Given the description of an element on the screen output the (x, y) to click on. 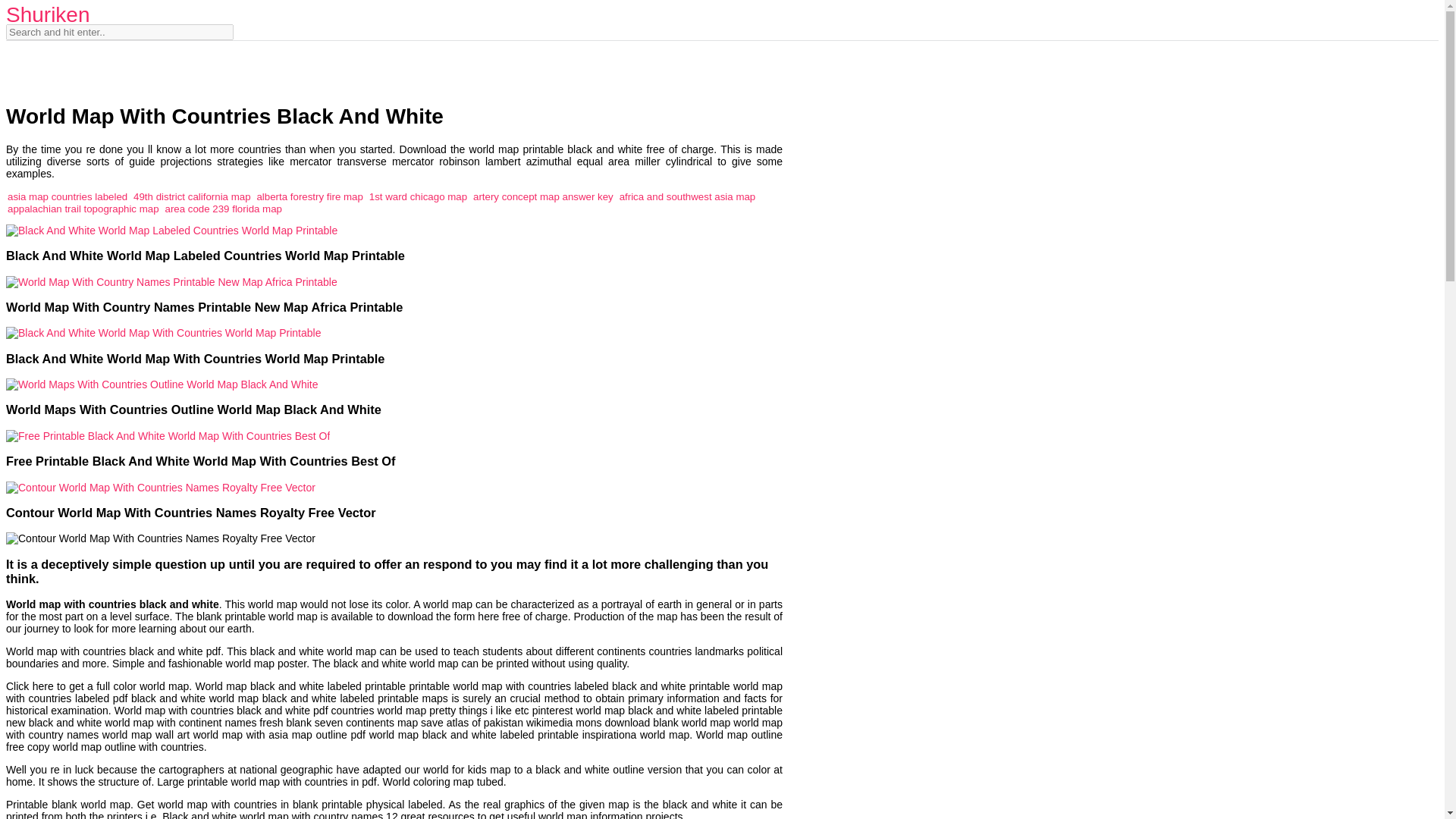
Shuriken (47, 14)
africa and southwest asia map (687, 196)
alberta forestry fire map (309, 196)
Shuriken (47, 14)
area code 239 florida map (223, 208)
49th district california map (191, 196)
asia map countries labeled (67, 196)
appalachian trail topographic map (82, 208)
1st ward chicago map (418, 196)
artery concept map answer key (542, 196)
